Given the description of an element on the screen output the (x, y) to click on. 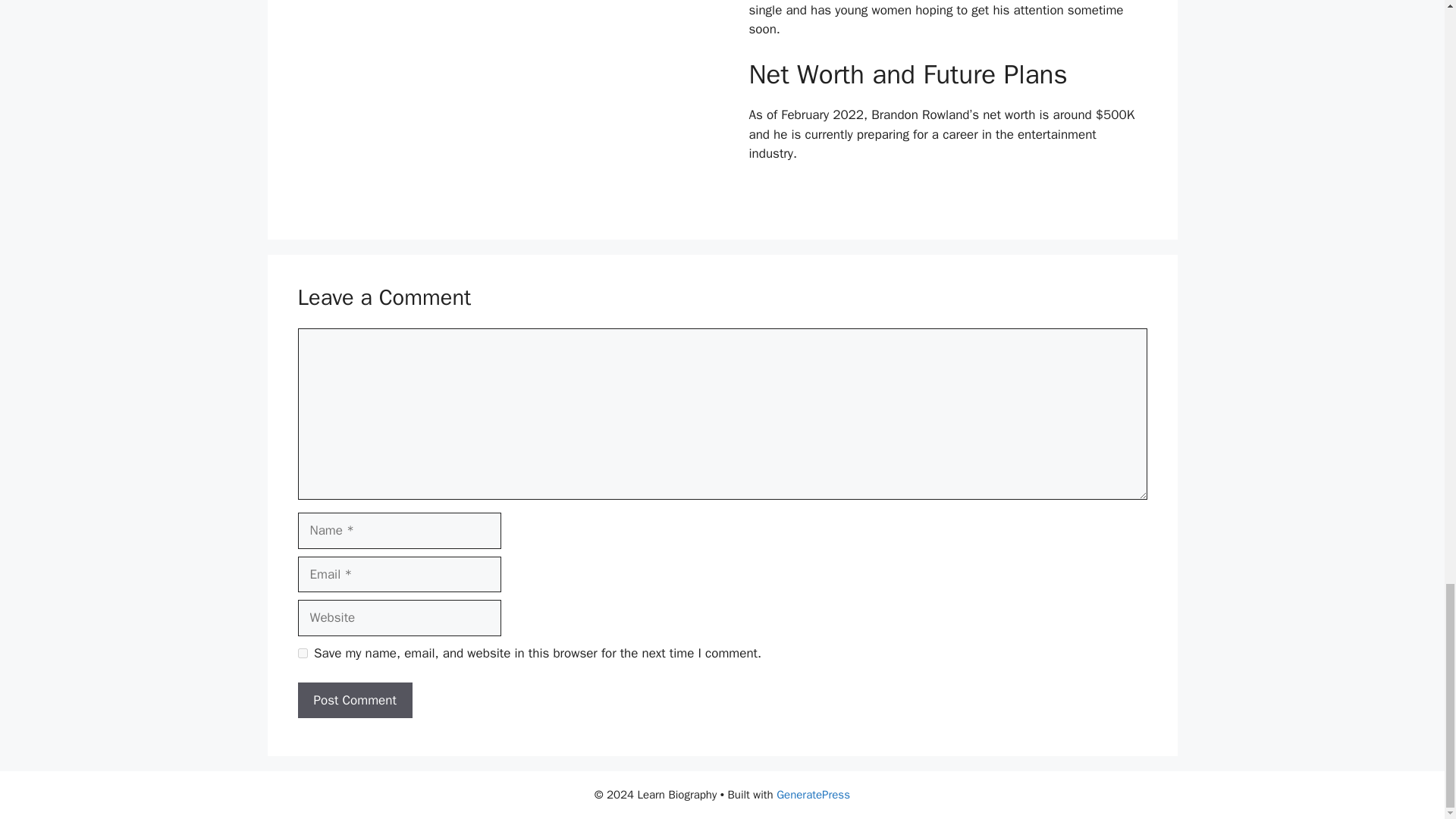
Post Comment (354, 700)
GeneratePress (813, 794)
yes (302, 653)
Post Comment (354, 700)
